Given the description of an element on the screen output the (x, y) to click on. 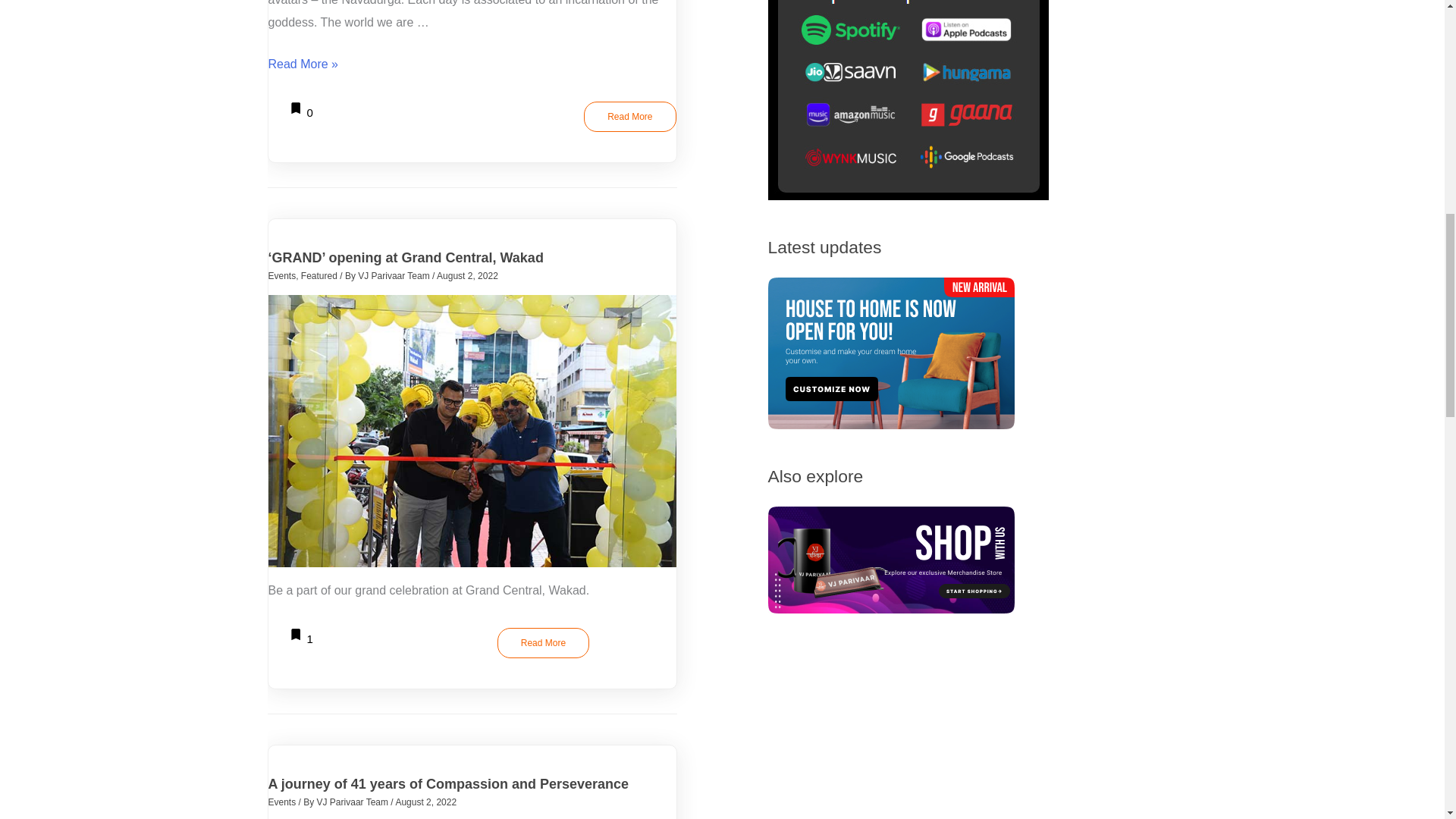
Events (282, 276)
View all posts by VJ Parivaar Team (299, 112)
View all posts by VJ Parivaar Team (395, 276)
Read More (354, 801)
Featured (629, 116)
